Given the description of an element on the screen output the (x, y) to click on. 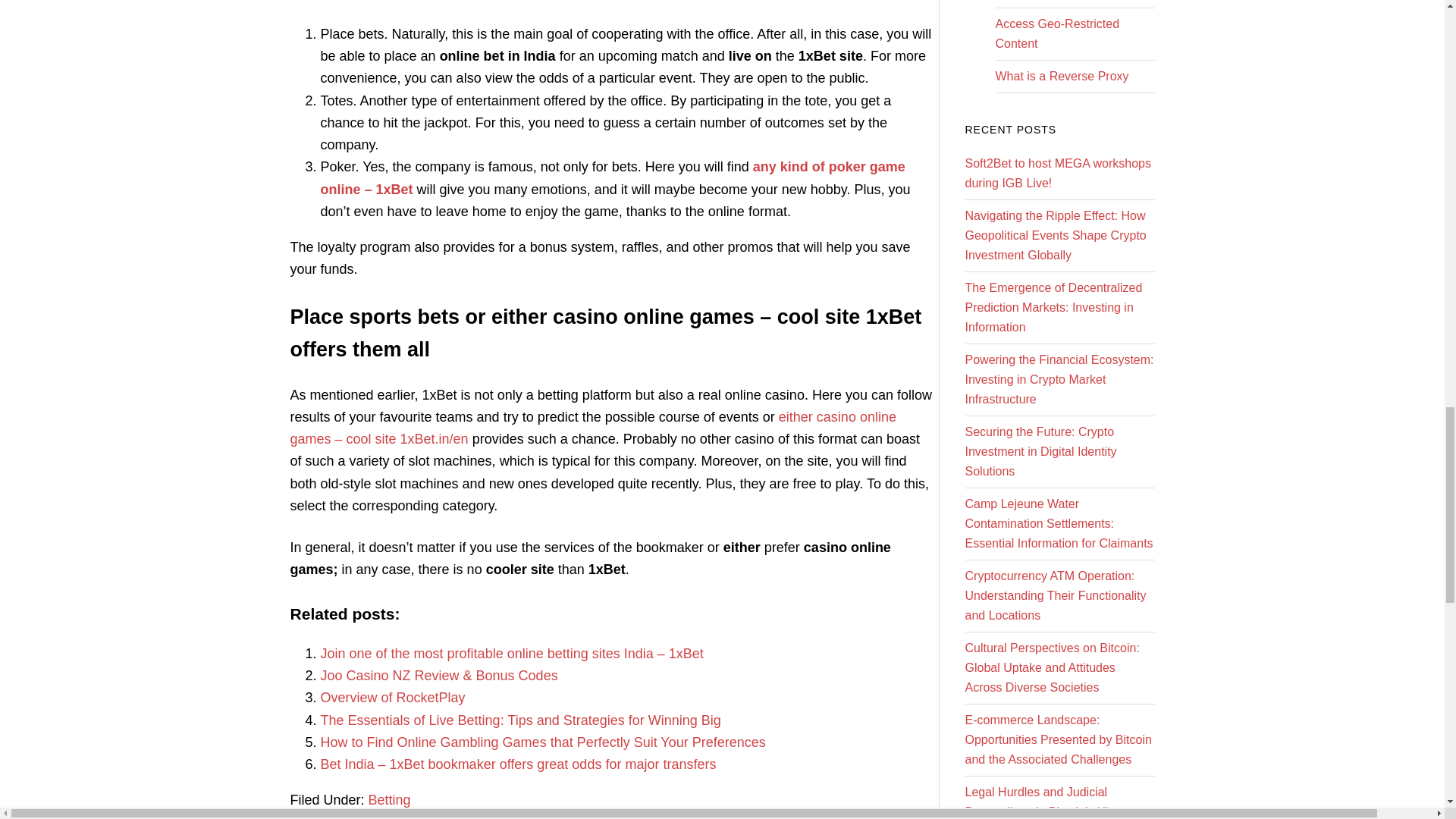
Overview of RocketPlay (392, 697)
Betting (389, 799)
Overview of RocketPlay (392, 697)
